Given the description of an element on the screen output the (x, y) to click on. 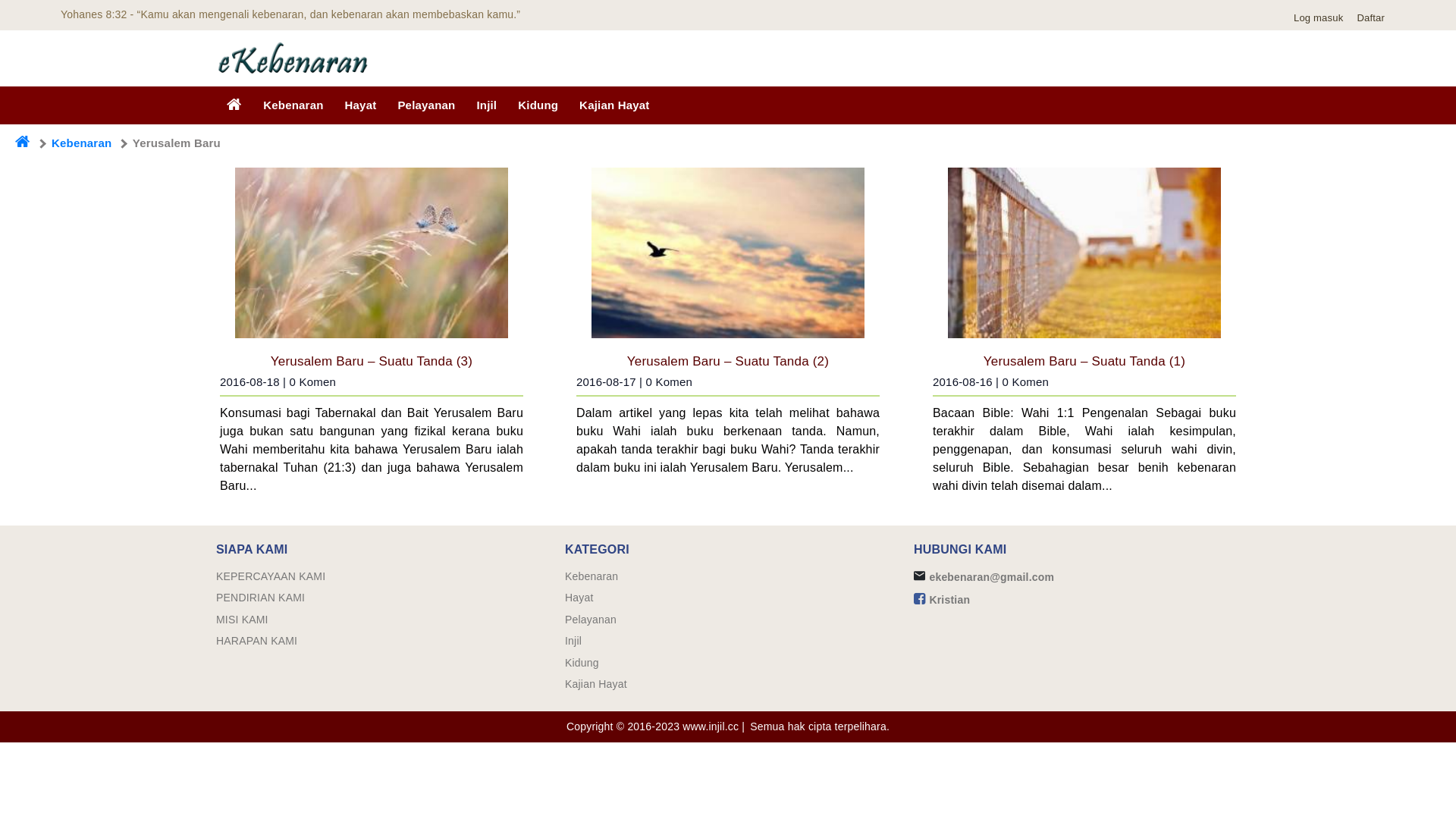
Kajian Hayat Element type: text (595, 683)
Kidung Element type: text (537, 104)
ekebenaran@gmail.com Element type: text (991, 577)
Hayat Element type: text (360, 104)
Hayat Element type: text (578, 597)
Kidung Element type: text (581, 662)
Kajian Hayat Element type: text (614, 104)
HARAPAN KAMI Element type: text (256, 640)
PENDIRIAN KAMI Element type: text (260, 597)
Injil Element type: text (486, 104)
Kebenaran Element type: text (81, 142)
KEPERCAYAAN KAMI Element type: text (270, 576)
Pelayanan Element type: text (426, 104)
Daftar Element type: text (1374, 17)
Kristian Element type: text (948, 599)
Log masuk Element type: text (1321, 17)
Kebenaran Element type: text (591, 576)
MISI KAMI Element type: text (242, 619)
Pelayanan Element type: text (590, 619)
Injil Element type: text (572, 640)
Kebenaran Element type: text (293, 104)
